Given the description of an element on the screen output the (x, y) to click on. 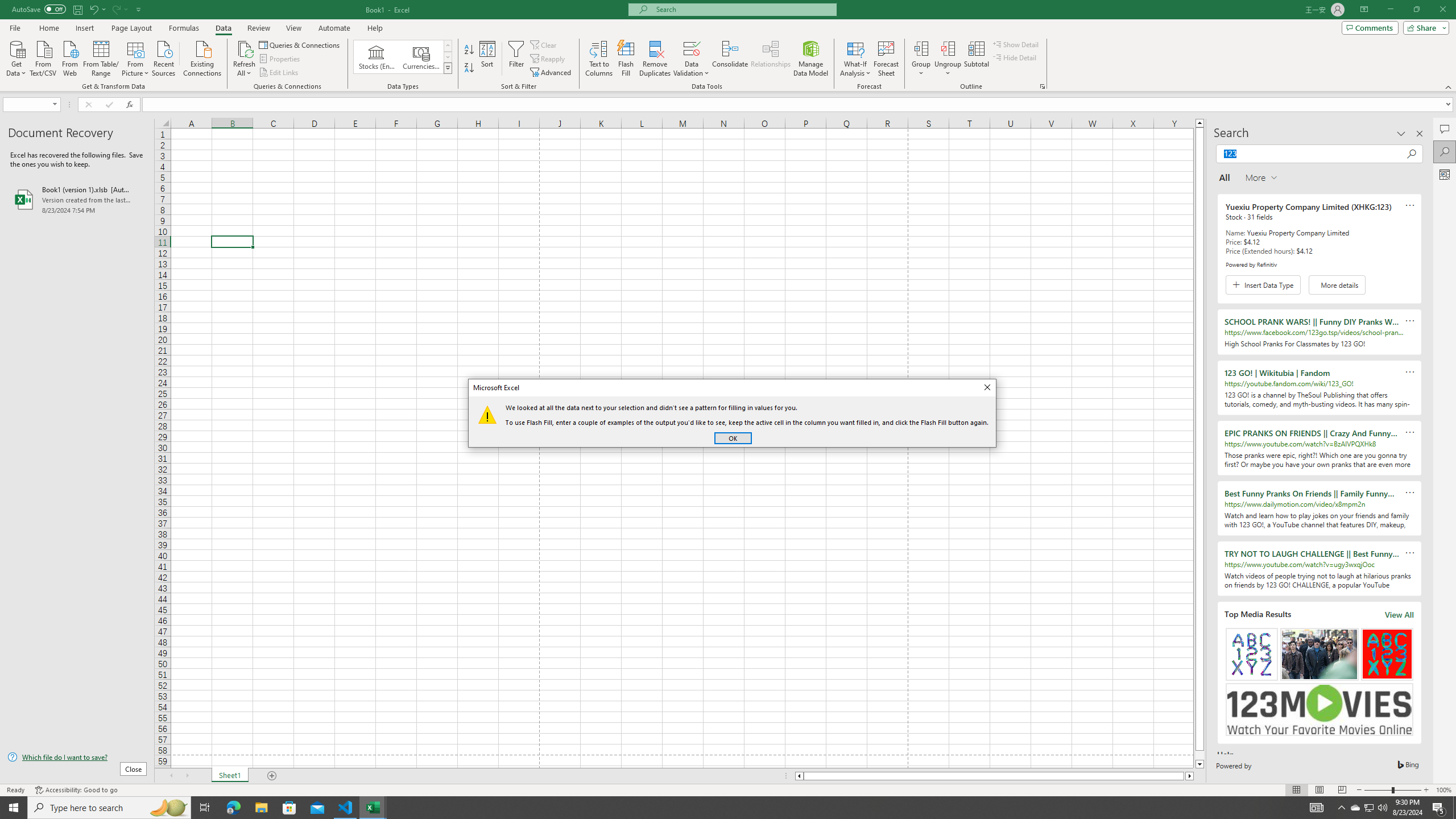
User Promoted Notification Area (1355, 807)
